Given the description of an element on the screen output the (x, y) to click on. 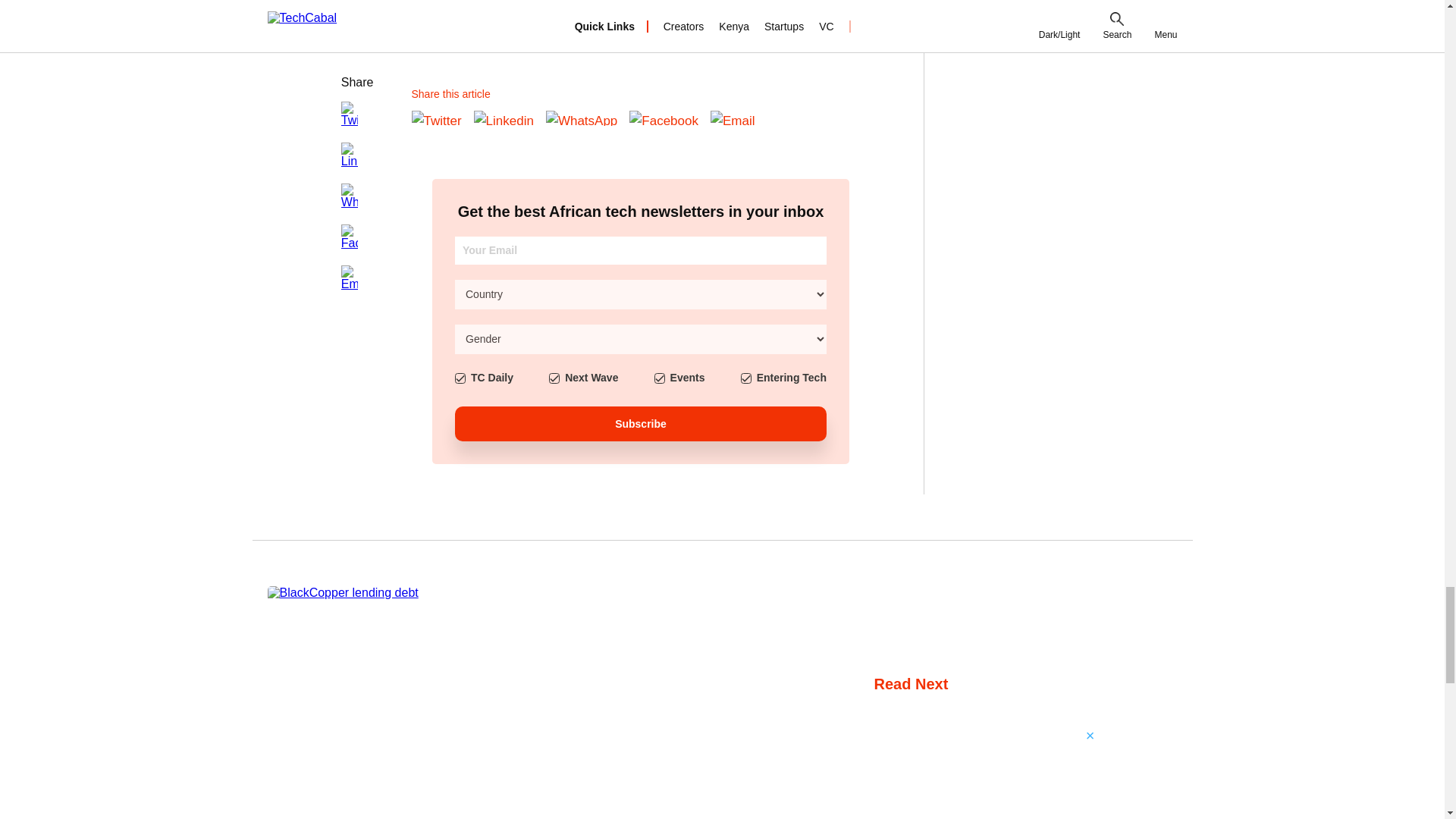
Posts by Ngozi Chukwu (902, 778)
